Given the description of an element on the screen output the (x, y) to click on. 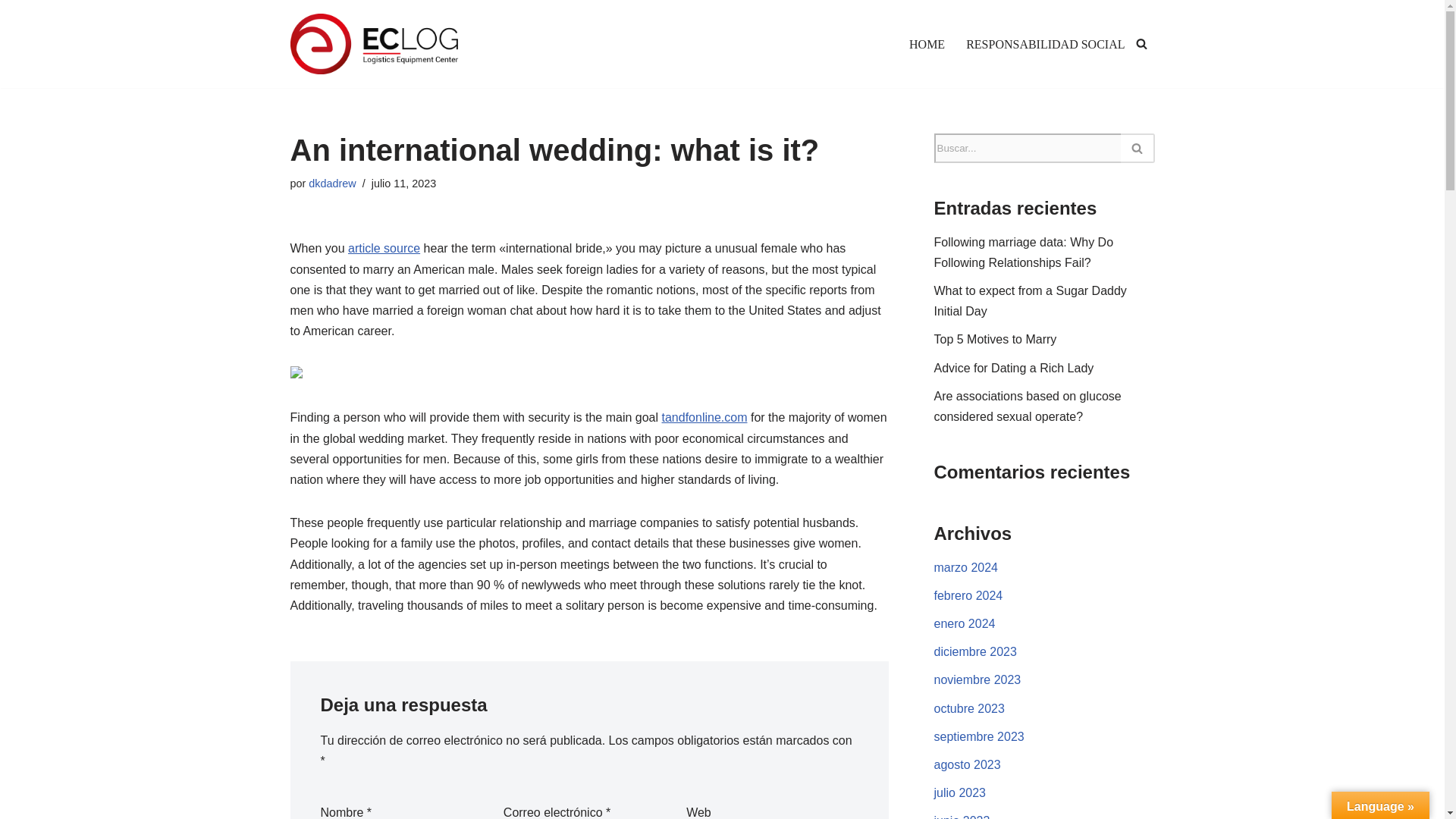
Saltar al contenido (11, 31)
HOME (926, 44)
Entradas de dkdadrew (331, 183)
octubre 2023 (969, 707)
marzo 2024 (966, 567)
diciembre 2023 (975, 651)
article source (383, 247)
dkdadrew (331, 183)
What to expect from a Sugar Daddy Initial Day (1030, 300)
junio 2023 (962, 816)
Are associations based on glucose considered sexual operate? (1027, 406)
agosto 2023 (967, 764)
tandfonline.com (705, 417)
Advice for Dating a Rich Lady (1014, 367)
